Given the description of an element on the screen output the (x, y) to click on. 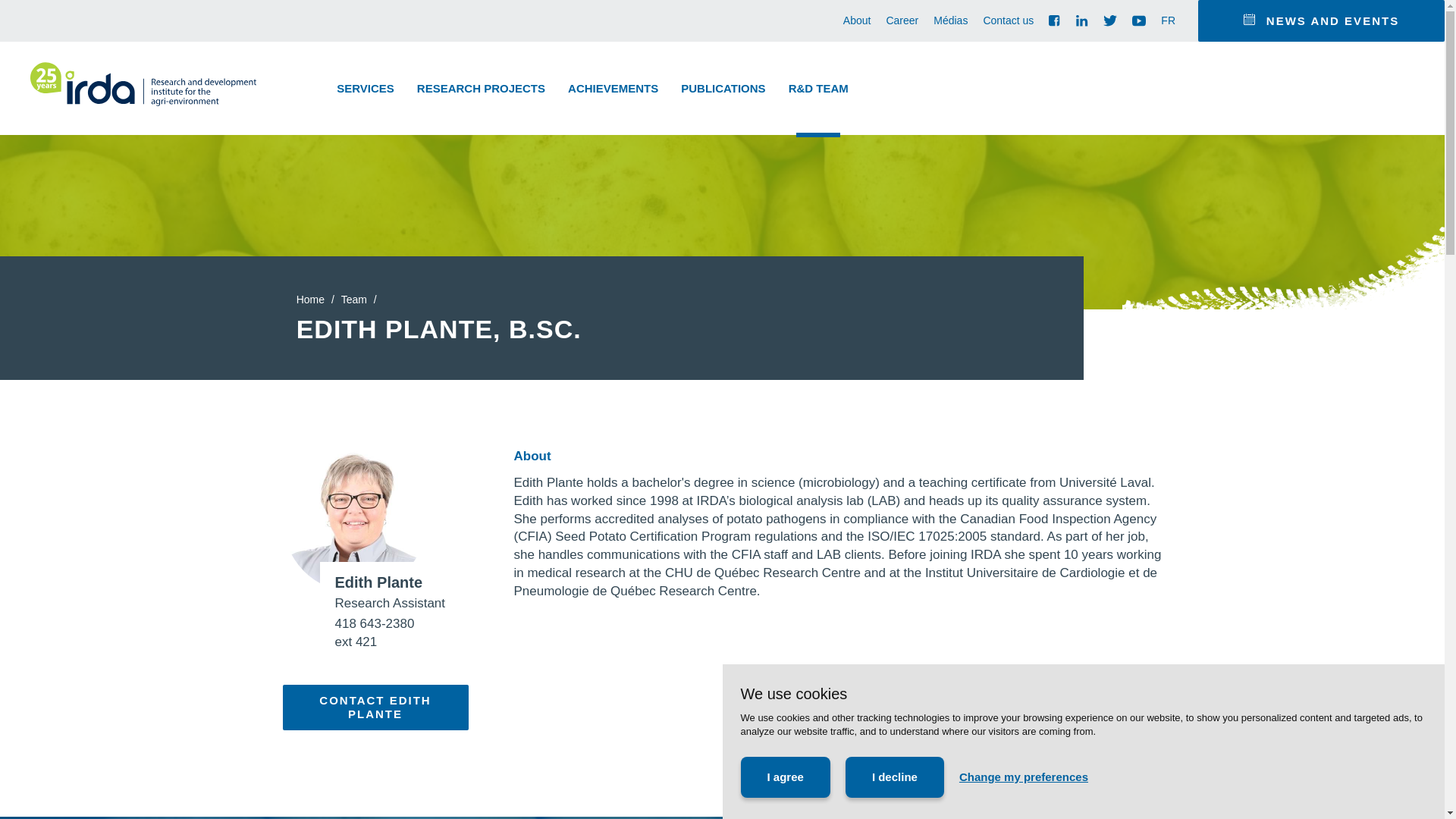
PUBLICATIONS (723, 88)
Career (901, 20)
About (856, 20)
LinkedIn (1081, 20)
RESEARCH PROJECTS (480, 88)
Twitter (1109, 20)
Change my preferences (1023, 777)
I decline (894, 776)
SERVICES (365, 88)
Facebook (1054, 21)
I agree (784, 776)
YouTube (1138, 20)
ACHIEVEMENTS (612, 88)
